Given the description of an element on the screen output the (x, y) to click on. 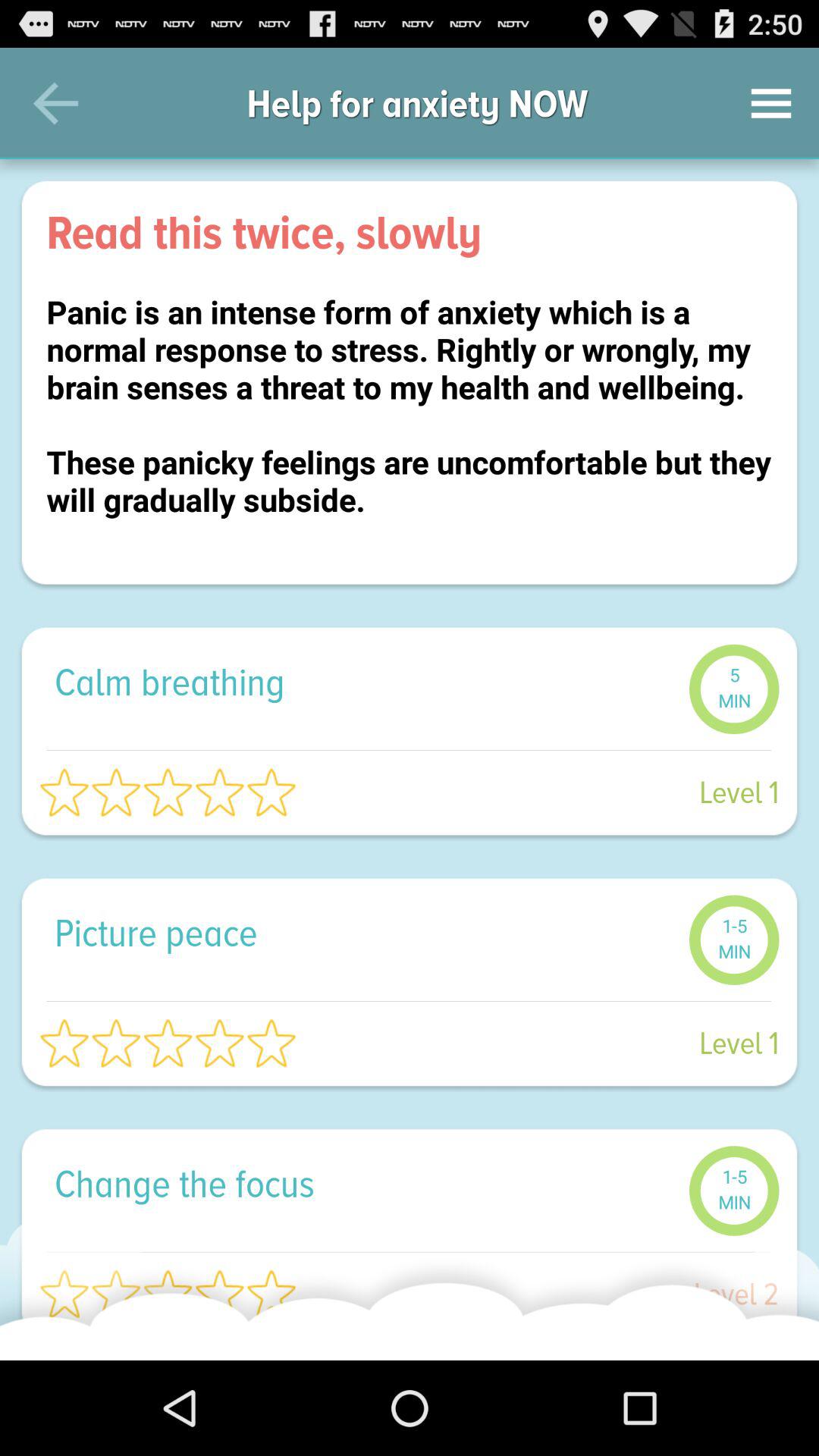
tap icon below the panic is an icon (363, 681)
